Given the description of an element on the screen output the (x, y) to click on. 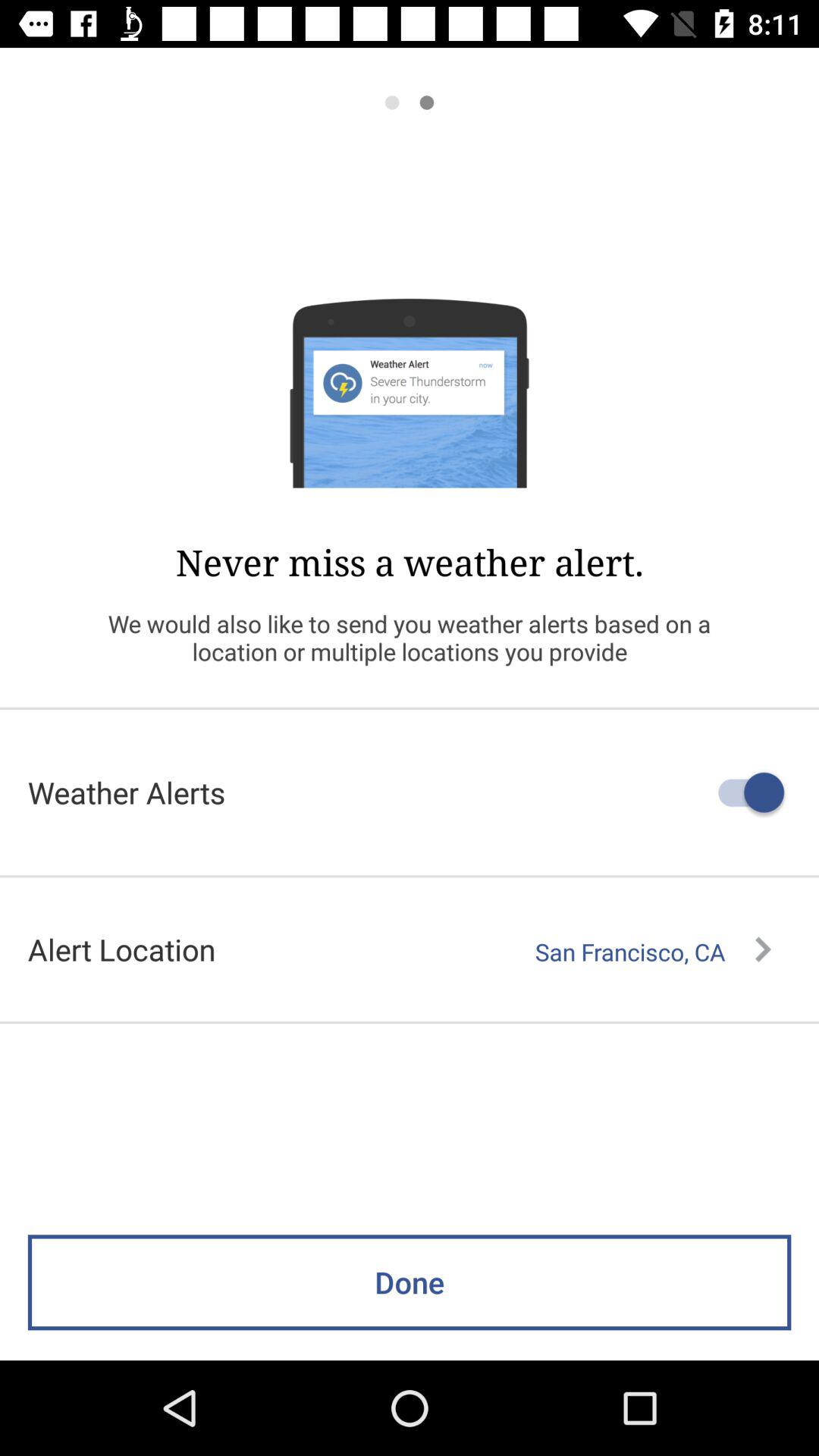
flip to done item (409, 1282)
